Given the description of an element on the screen output the (x, y) to click on. 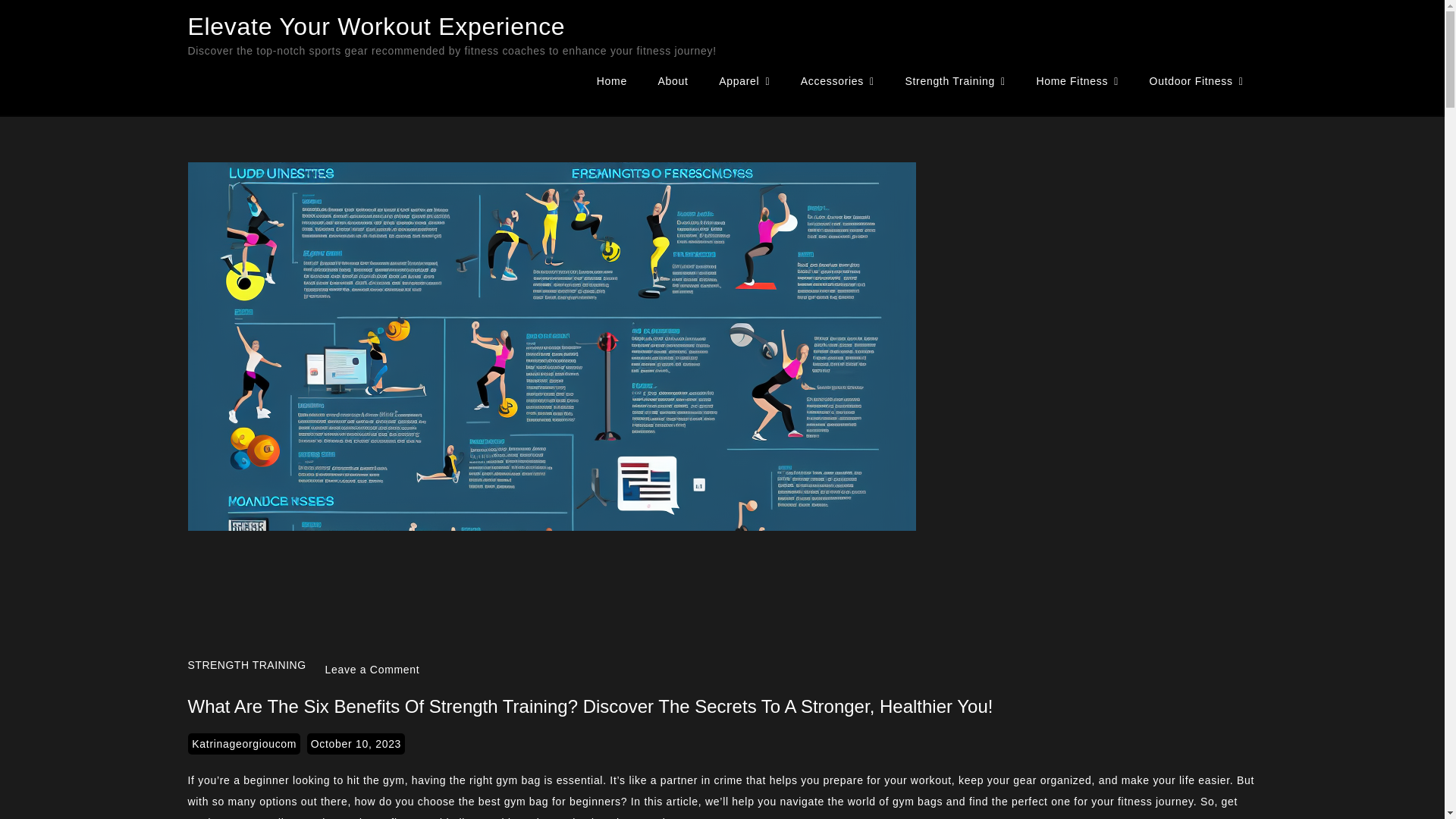
Home (611, 80)
Elevate Your Workout Experience (376, 26)
Accessories (837, 81)
Strength Training (954, 81)
October 10, 2023 (355, 743)
Home Fitness (1077, 81)
About (673, 80)
Katrinageorgioucom (243, 743)
Outdoor Fitness (1196, 81)
